Given the description of an element on the screen output the (x, y) to click on. 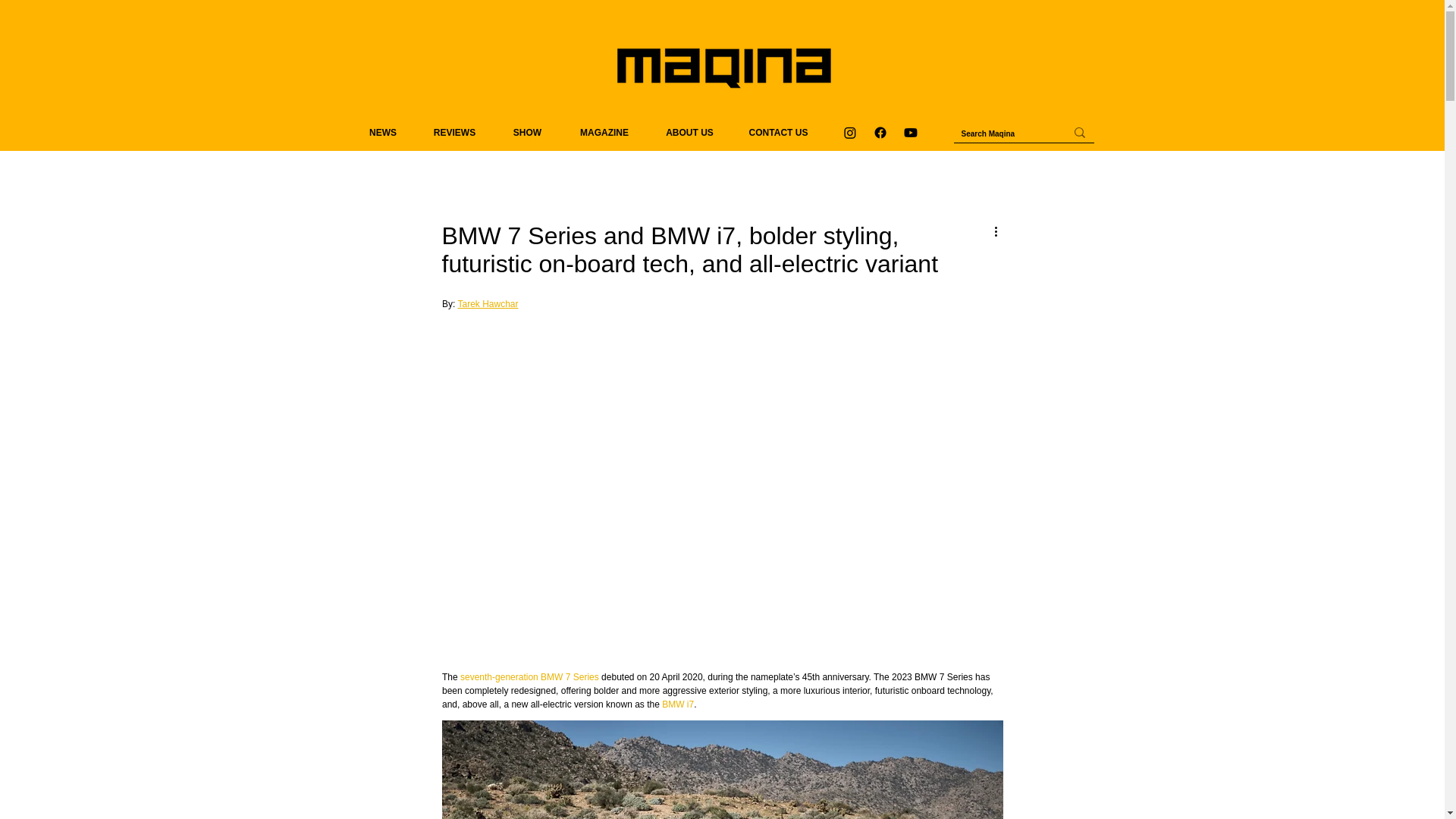
REVIEWS (454, 132)
ABOUT US (688, 132)
NEWS (382, 132)
seventh-generation BMW 7 Series (529, 676)
SHOW (527, 132)
MAGAZINE (603, 132)
BMW i7 (678, 704)
Tarek Hawchar (487, 303)
CONTACT US (777, 132)
